Given the description of an element on the screen output the (x, y) to click on. 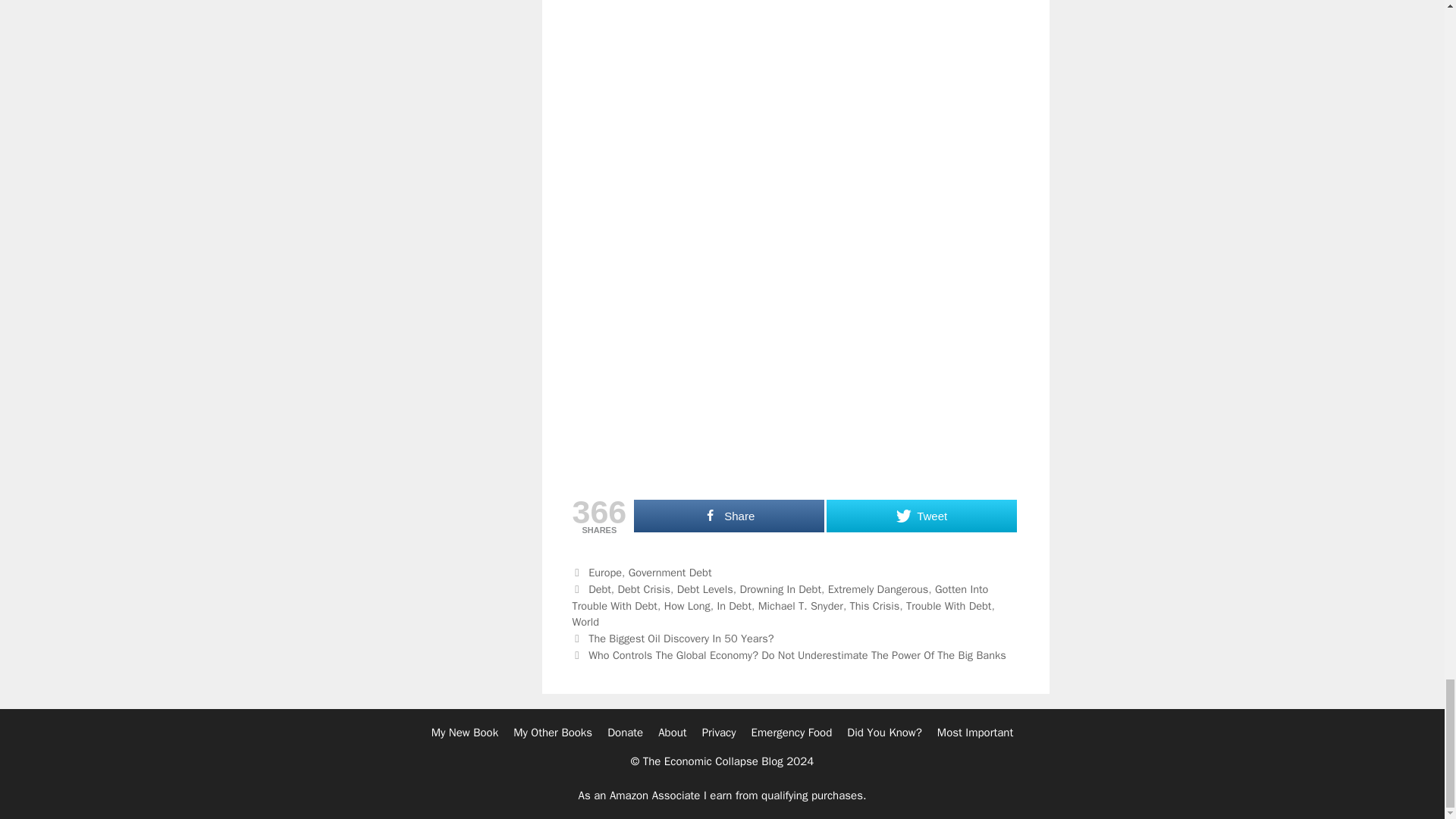
Europe (604, 572)
Gotten Into Trouble With Debt (780, 597)
Debt Levels (705, 589)
Tweet (921, 515)
How Long (686, 605)
This Crisis (874, 605)
World (585, 621)
Debt (599, 589)
Government Debt (669, 572)
